Given the description of an element on the screen output the (x, y) to click on. 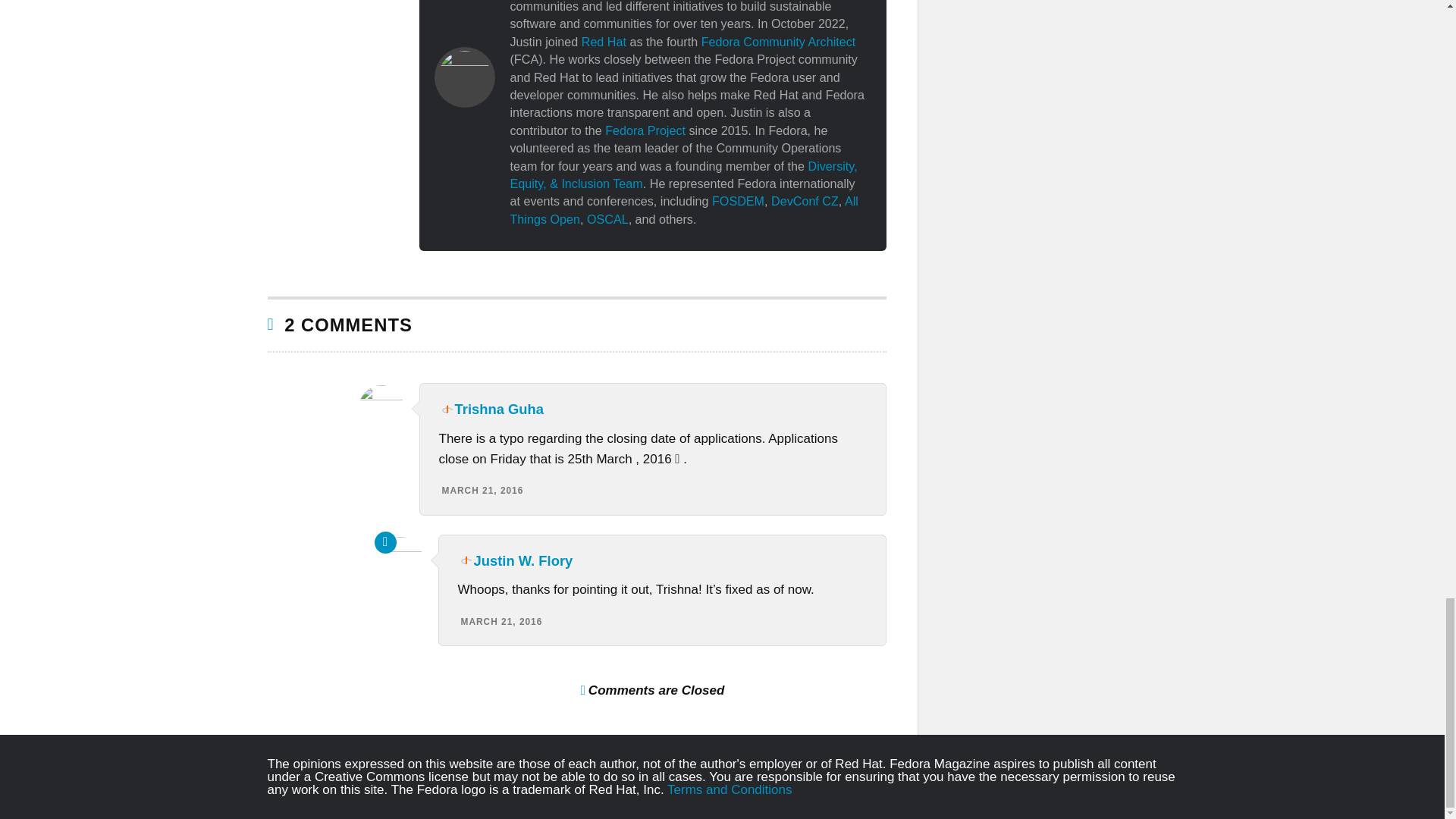
March 21, 2016 at 07:22 (481, 490)
Comment by post author (385, 542)
March 21, 2016 at 18:43 (502, 621)
Red Hat (603, 41)
